Given the description of an element on the screen output the (x, y) to click on. 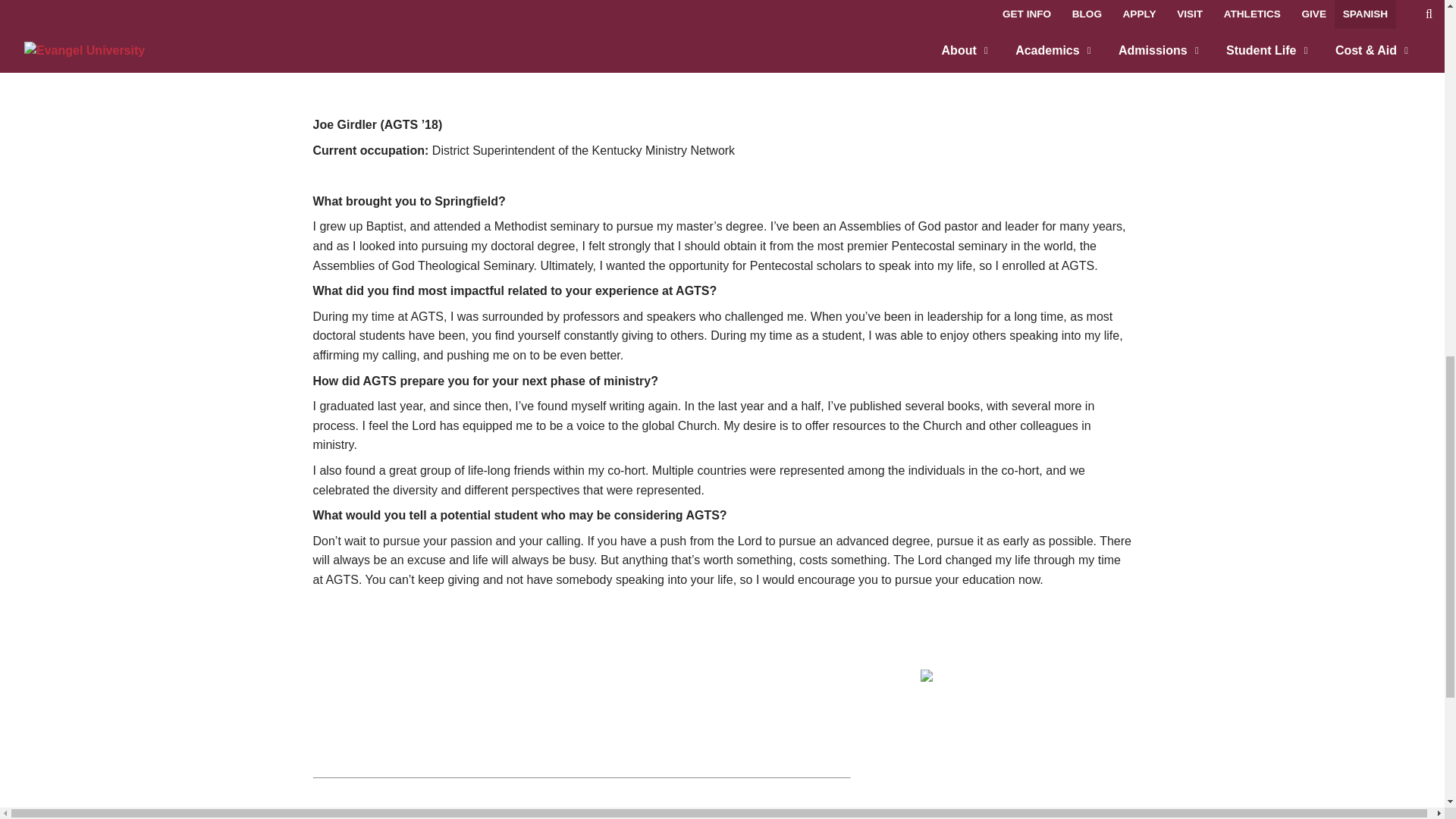
Home (997, 678)
